Given the description of an element on the screen output the (x, y) to click on. 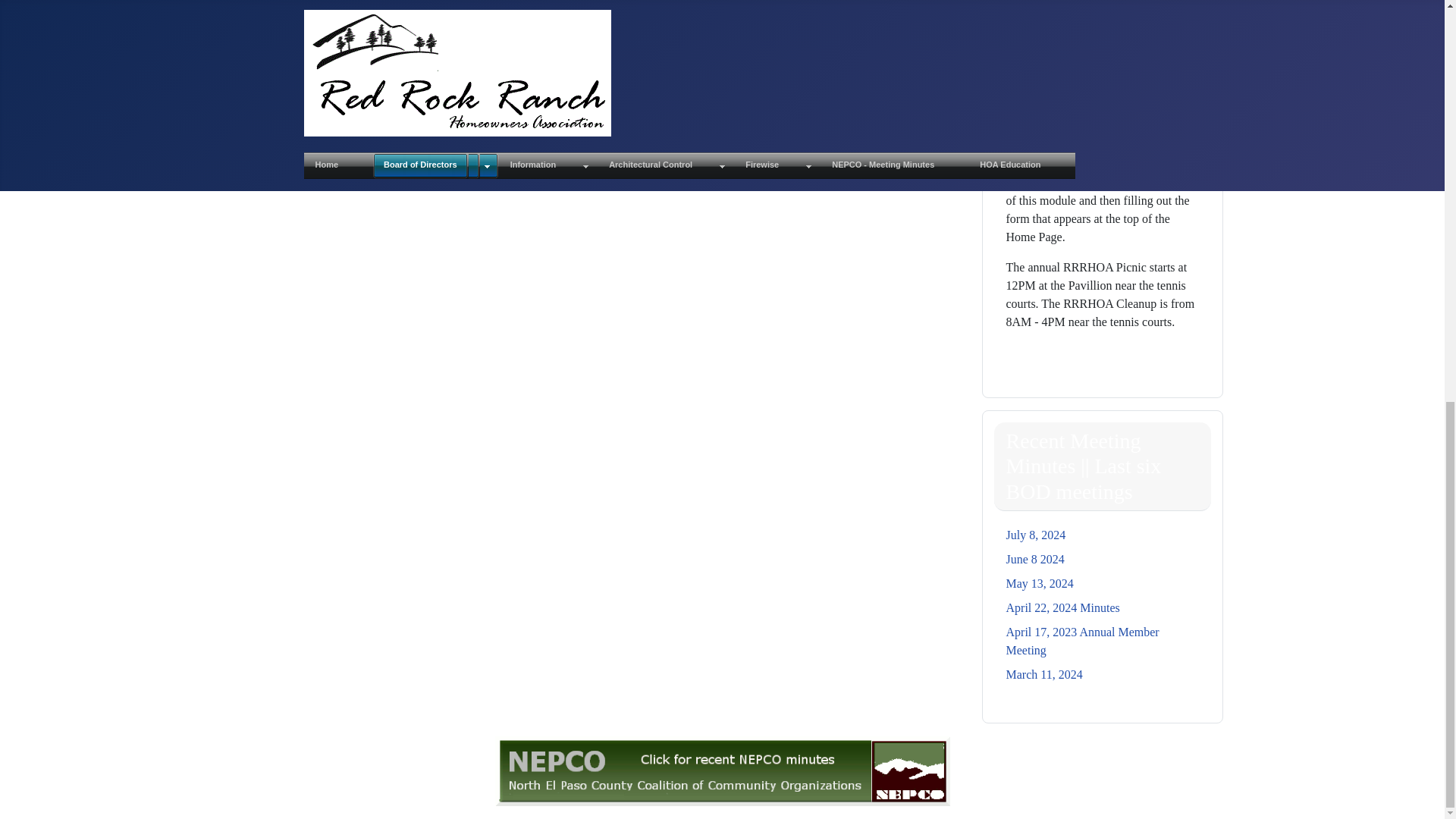
June 8 2024 (1035, 558)
March 11, 2024 (1043, 674)
April 22, 2024 Minutes (1062, 607)
May 13, 2024 (1039, 583)
April 17, 2023 Annual Member Meeting (1082, 640)
July 8, 2024 (1035, 534)
